Given the description of an element on the screen output the (x, y) to click on. 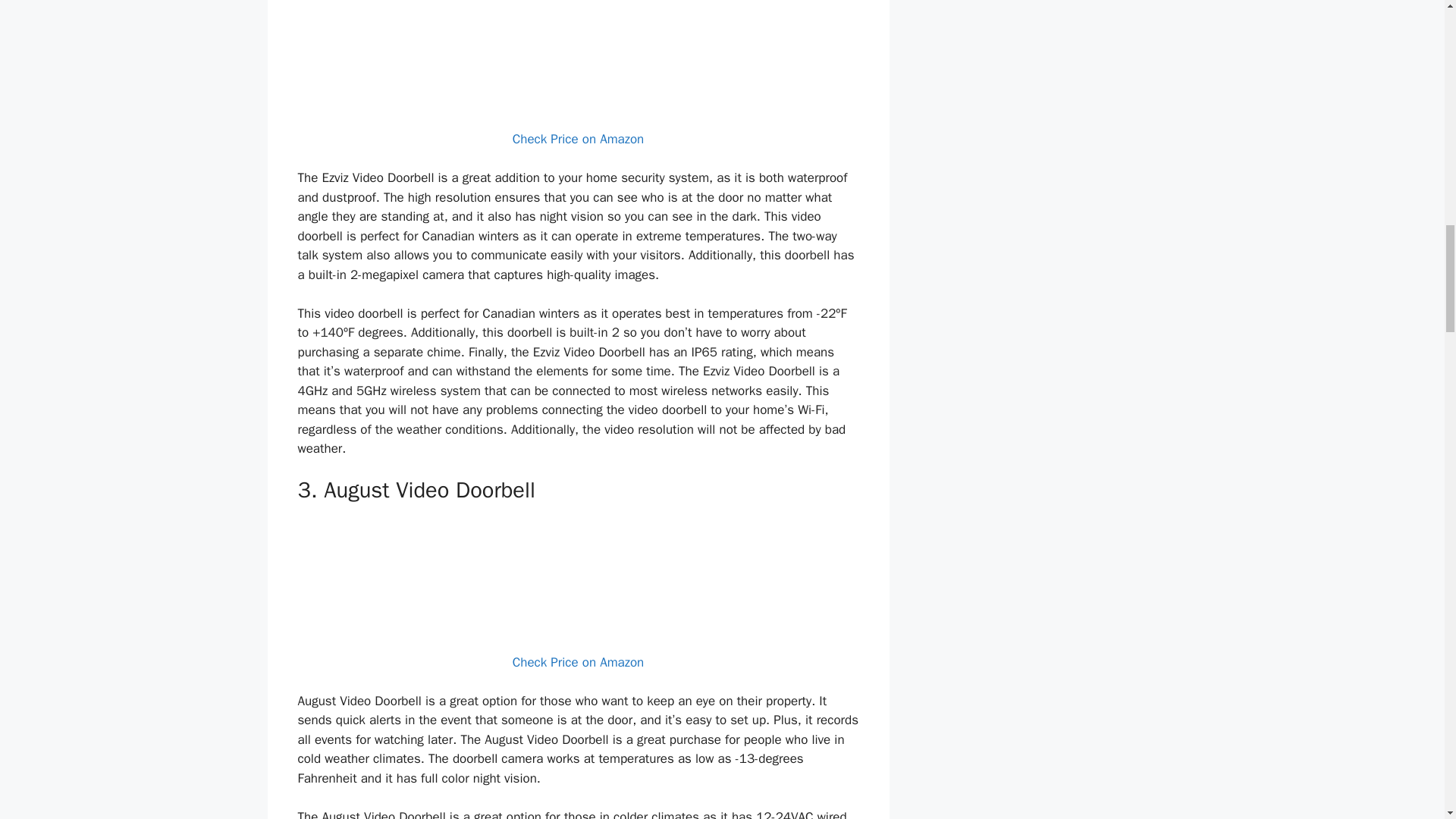
August Doorbell Camera, 1st generation - Dark Gray (578, 576)
August Doorbell Camera, 1st generation - Dark Gray (577, 576)
Check Price on Amazon (578, 139)
Check Price on Amazon (578, 662)
